Given the description of an element on the screen output the (x, y) to click on. 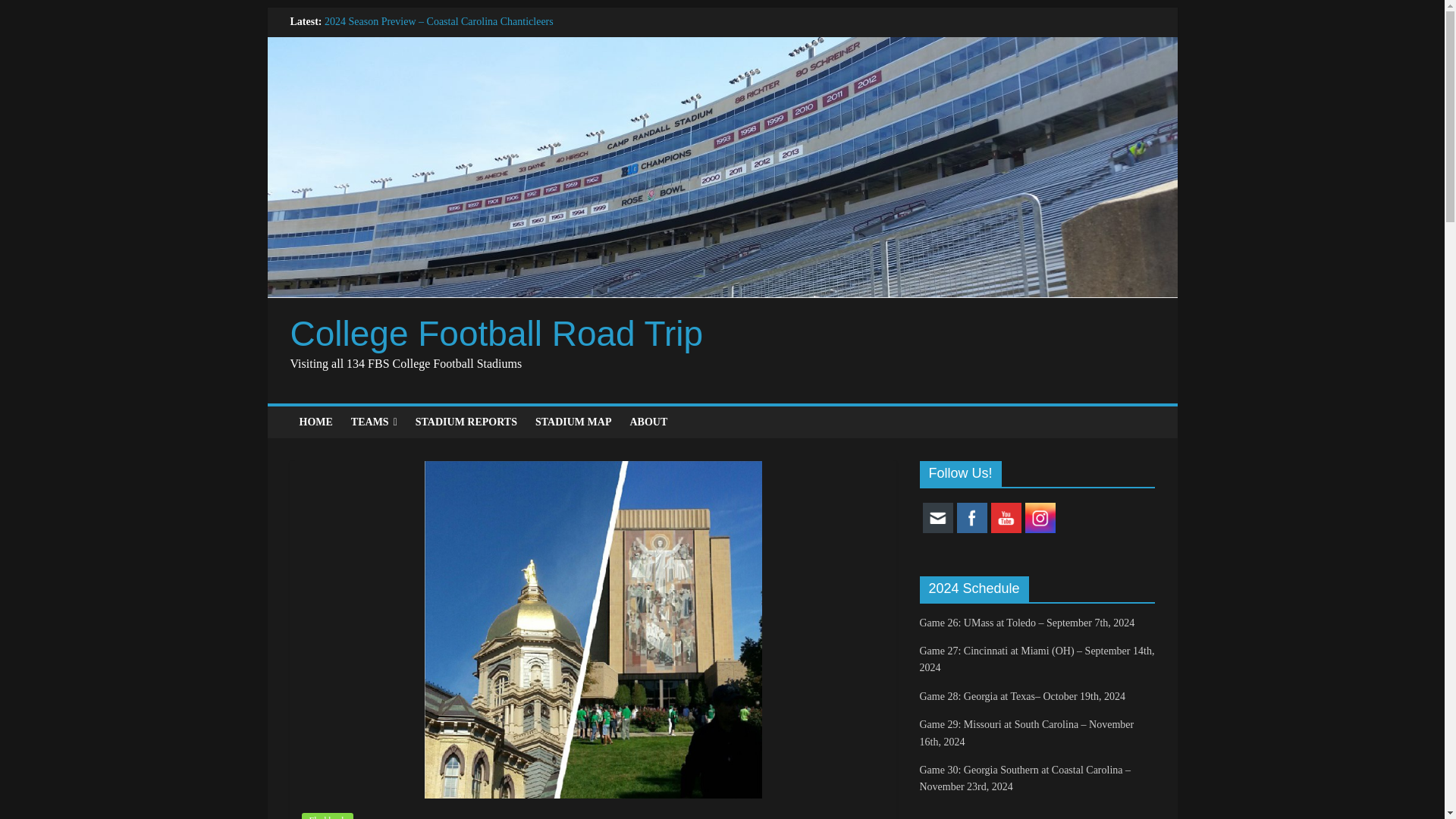
TEAMS (374, 422)
Instagram (1040, 517)
YouTube (1005, 517)
Facebook (971, 517)
College Football Road Trip (496, 332)
College Football Road Trip (496, 332)
HOME (314, 422)
Follow by Email (936, 517)
